Given the description of an element on the screen output the (x, y) to click on. 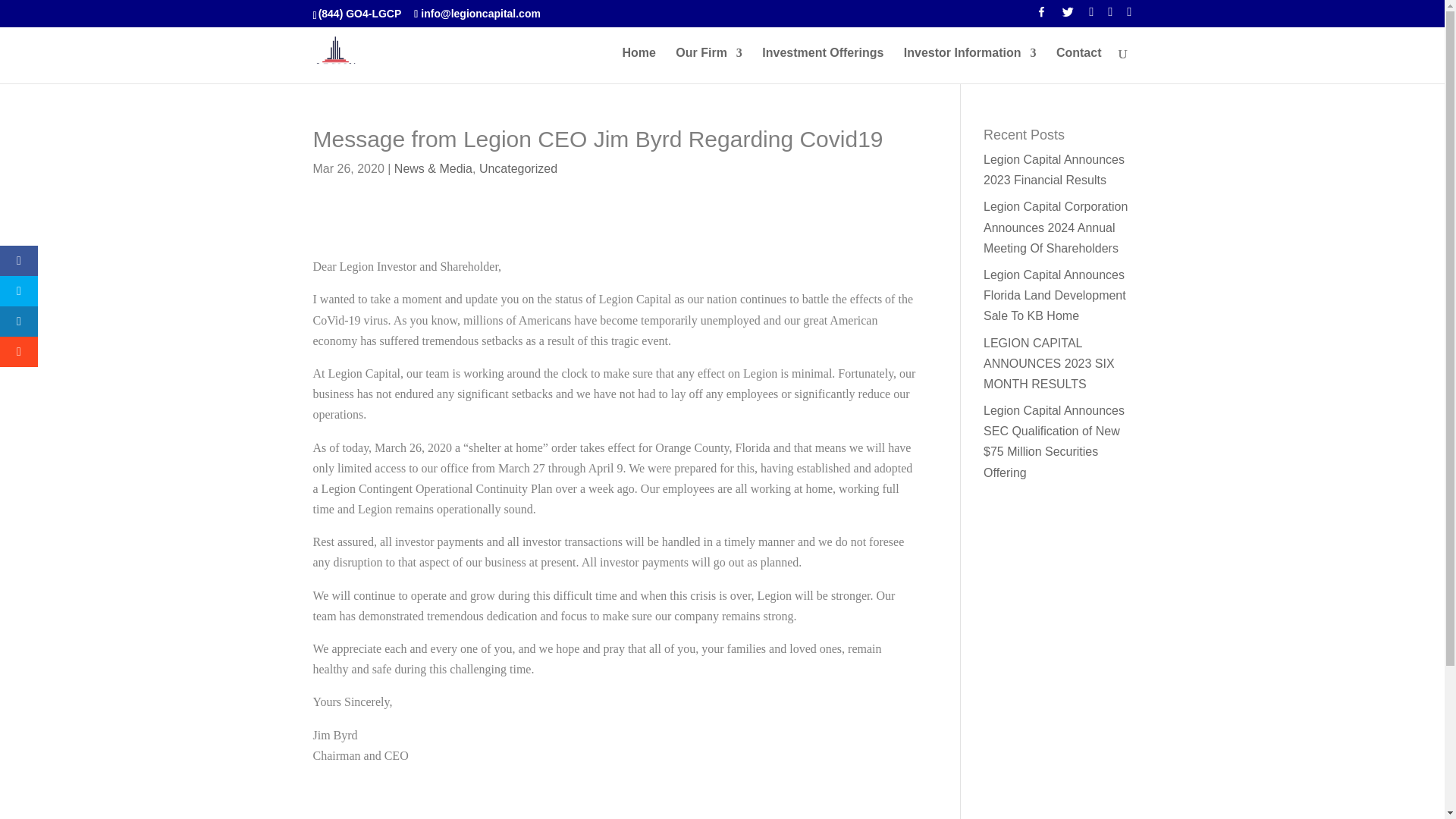
Home (638, 65)
Legion Capital Announces 2023 Financial Results (1054, 169)
Investor Information (970, 65)
Uncategorized (518, 168)
Investment Offerings (822, 65)
Contact (1079, 65)
Our Firm (708, 65)
LEGION CAPITAL ANNOUNCES 2023 SIX MONTH RESULTS (1049, 363)
